Given the description of an element on the screen output the (x, y) to click on. 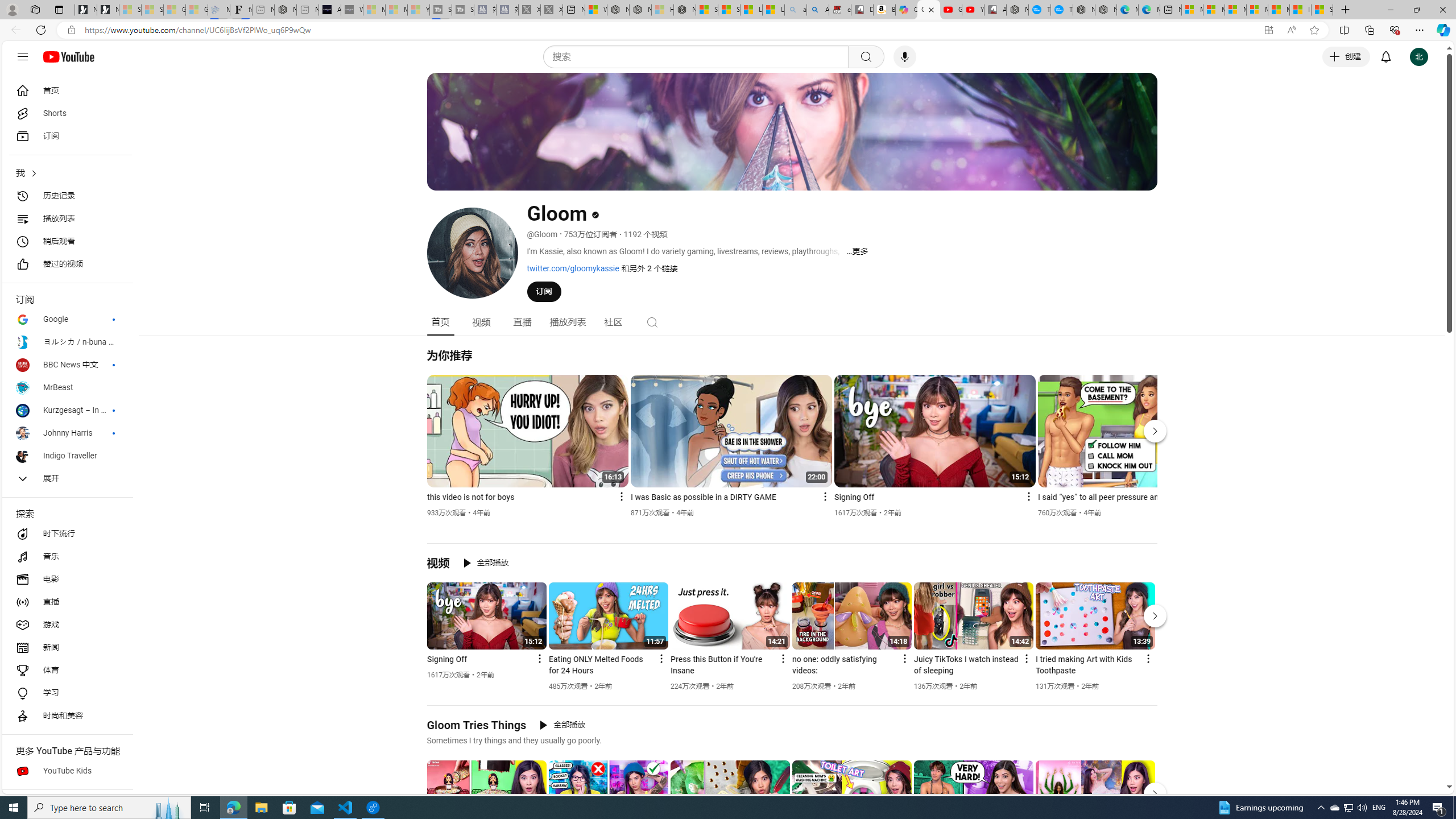
Copilot (907, 9)
